Given the description of an element on the screen output the (x, y) to click on. 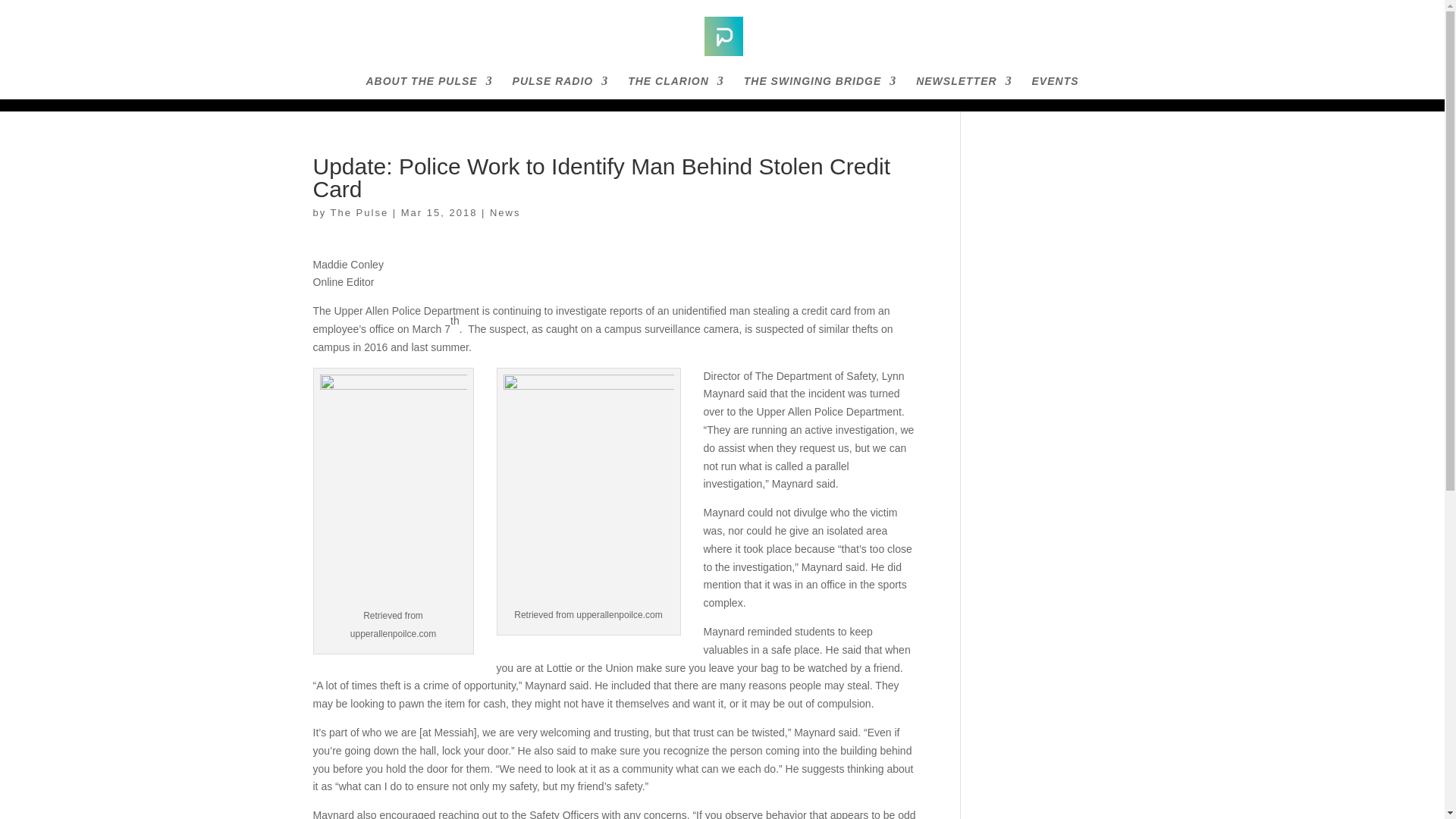
THE SWINGING BRIDGE (820, 87)
Posts by The Pulse (359, 212)
NEWSLETTER (963, 87)
THE CLARION (675, 87)
EVENTS (1055, 87)
PULSE RADIO (560, 87)
News (505, 212)
ABOUT THE PULSE (428, 87)
The Pulse (359, 212)
